Given the description of an element on the screen output the (x, y) to click on. 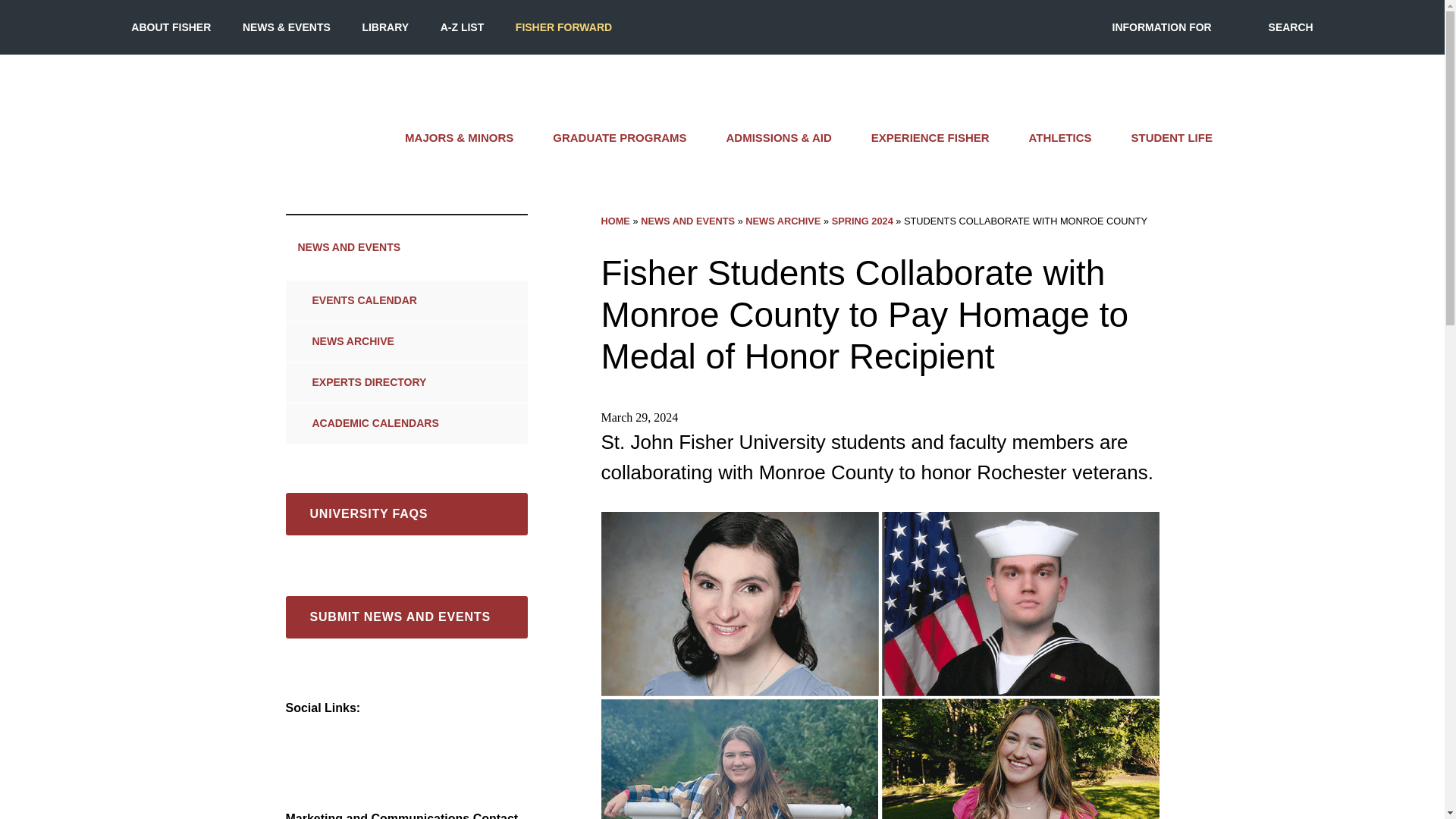
INFORMATION FOR (1161, 27)
NEWS ARCHIVE (388, 341)
GRADUATE PROGRAMS (619, 137)
ABOUT FISHER (171, 27)
LIBRARY (385, 27)
EXPERIENCE FISHER (930, 137)
Facebook (296, 735)
NEWS AND EVENTS (406, 247)
TikTok (397, 735)
Instagram (330, 735)
Flickr (430, 735)
FISHER FORWARD (563, 27)
STUDENT LIFE (1171, 137)
A-Z LIST (462, 27)
ATHLETICS (1059, 137)
